Given the description of an element on the screen output the (x, y) to click on. 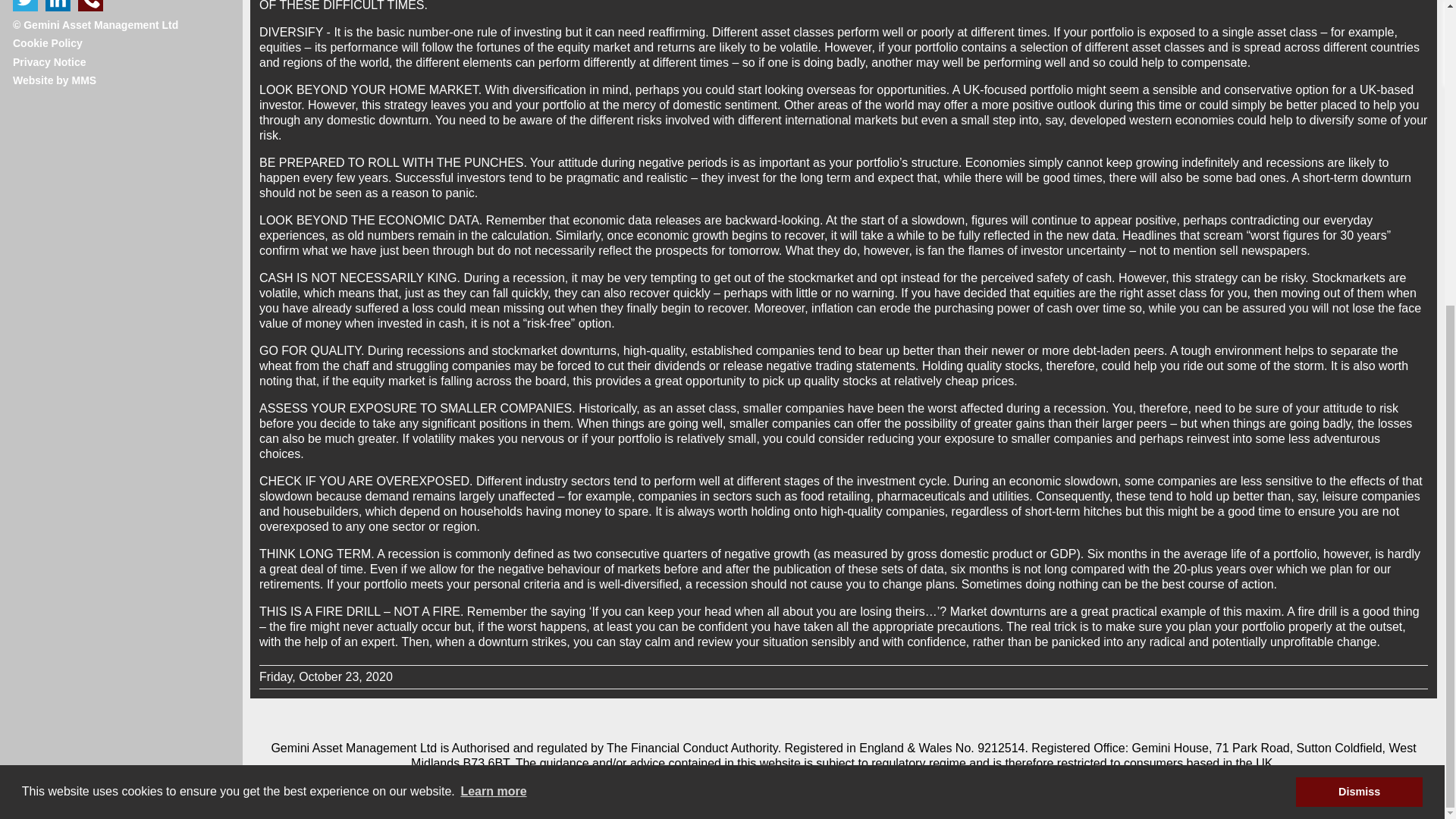
LinkedIn (57, 5)
Learn more (493, 311)
Cookie Policy (47, 42)
MMS (84, 80)
Privacy Notice (49, 61)
Free Phone (90, 5)
Twitter (25, 5)
Dismiss (1358, 311)
